Given the description of an element on the screen output the (x, y) to click on. 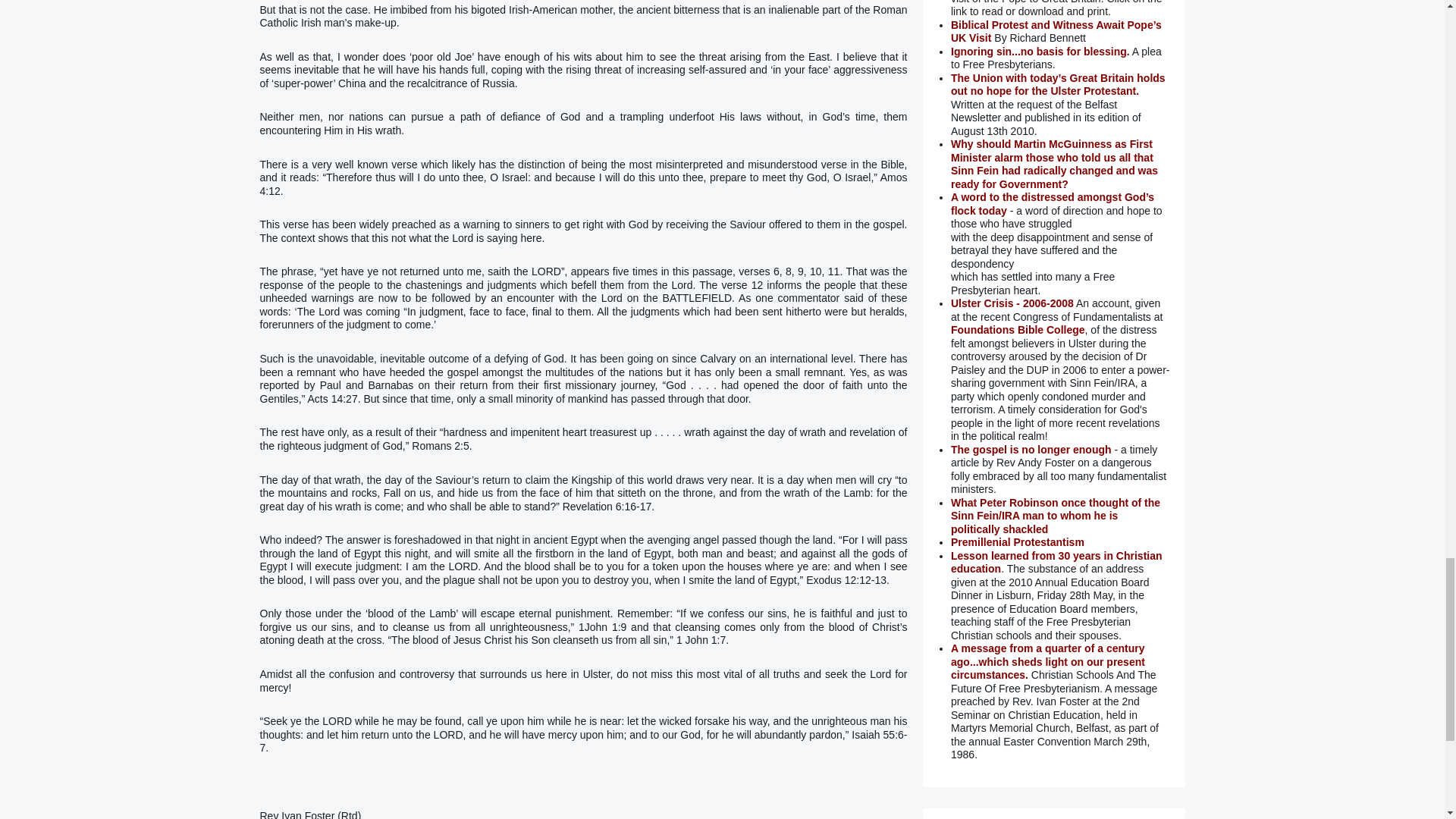
The gospel is no longer enough (1031, 449)
Ignoring sin...no basis for blessing. (1039, 51)
Ulster Crisis - 2006-2008 (1012, 303)
Premillenial Protestantism (1017, 541)
Lesson learned from 30 years in Christian education (1055, 562)
Foundations Bible College (1017, 329)
